Given the description of an element on the screen output the (x, y) to click on. 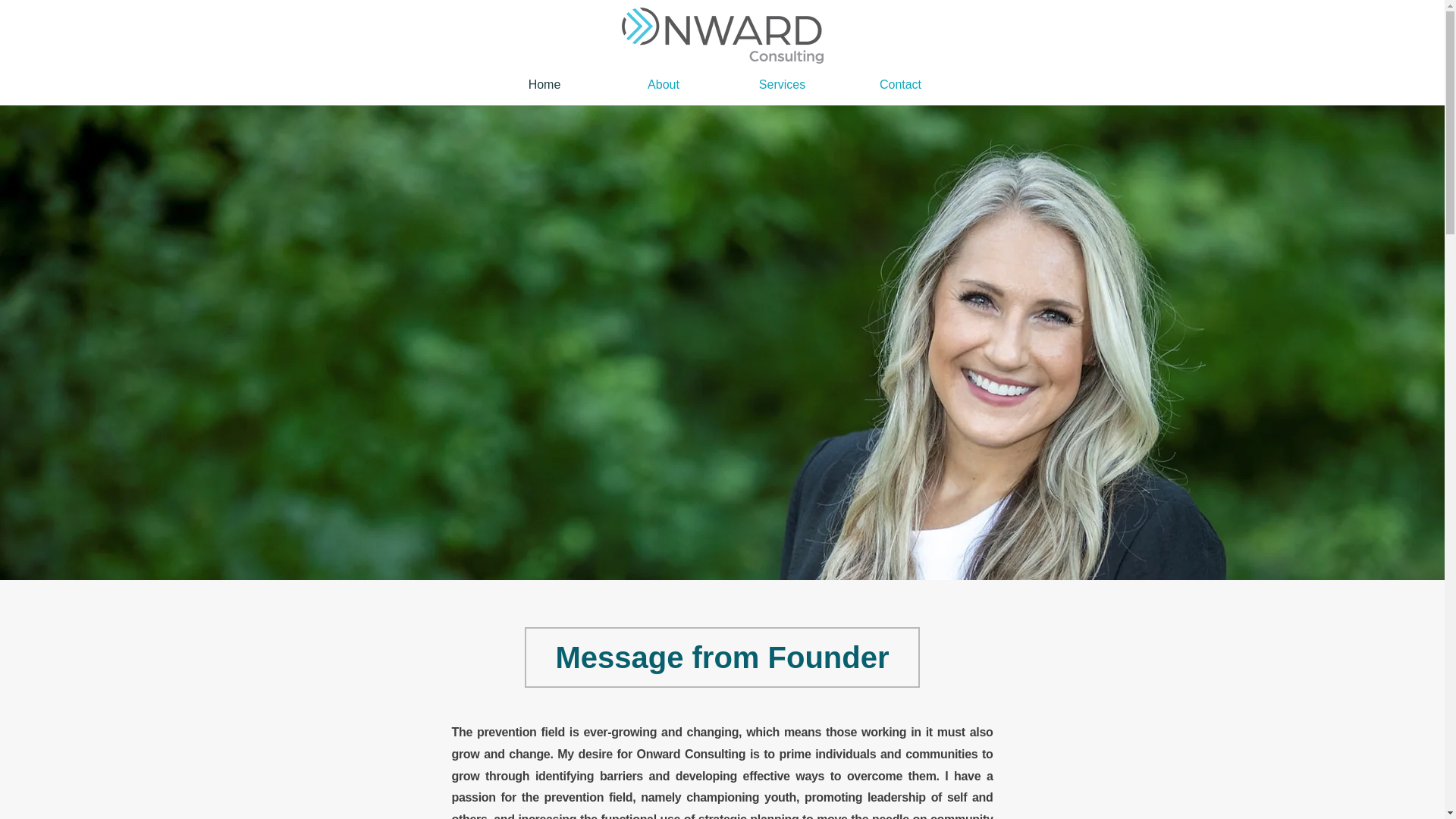
About (663, 84)
Contact (900, 84)
Home (544, 84)
Services (782, 84)
